Given the description of an element on the screen output the (x, y) to click on. 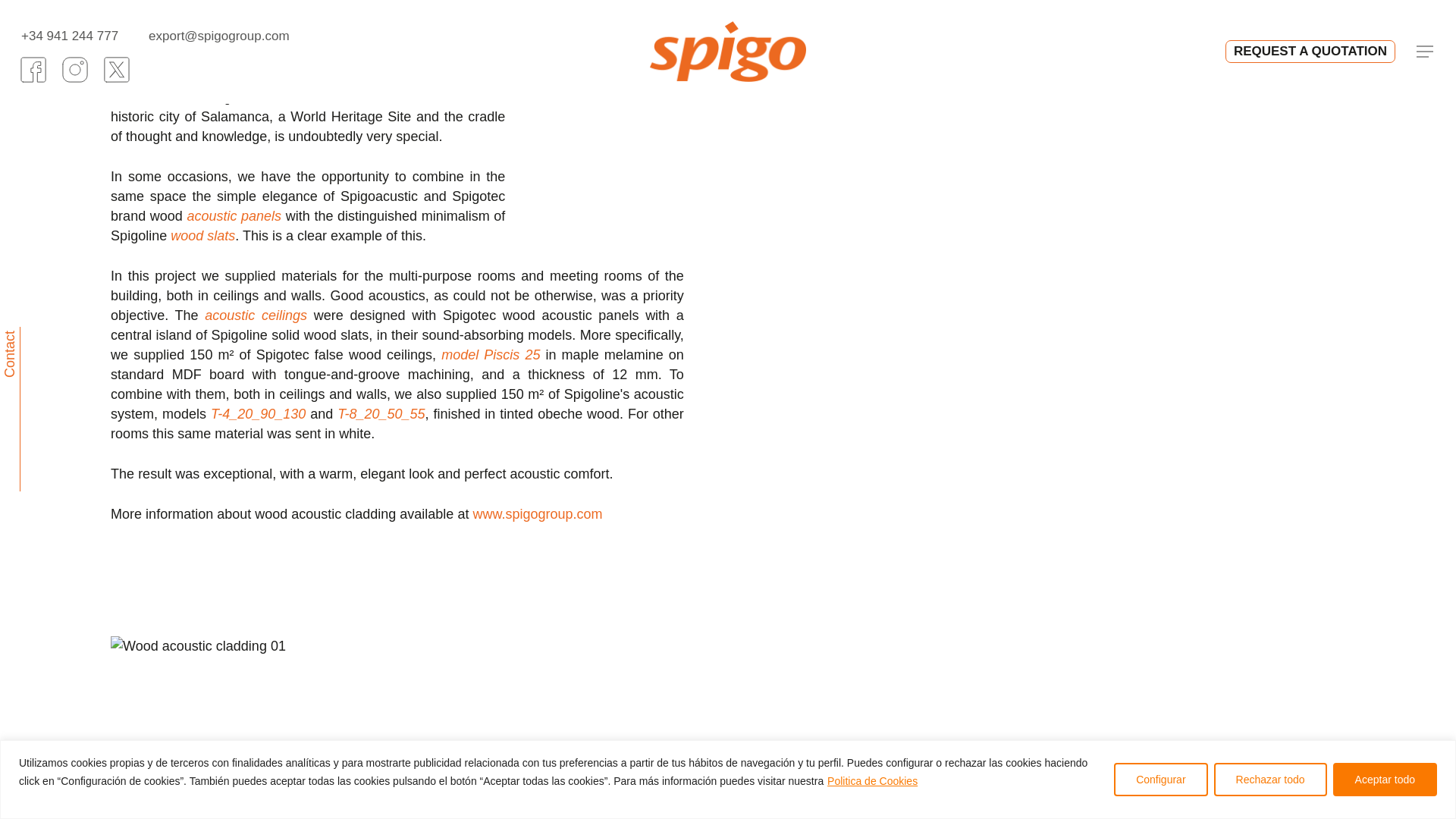
wood slats (202, 235)
acoustic ceilings (256, 314)
acoustic panels (233, 215)
model Piscis 25 (490, 354)
